Given the description of an element on the screen output the (x, y) to click on. 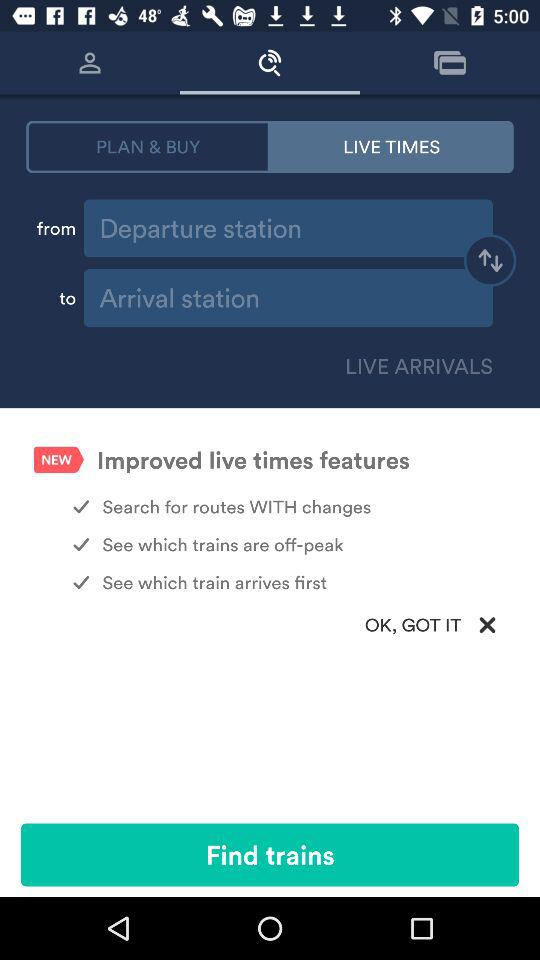
open plan & buy (148, 146)
